Given the description of an element on the screen output the (x, y) to click on. 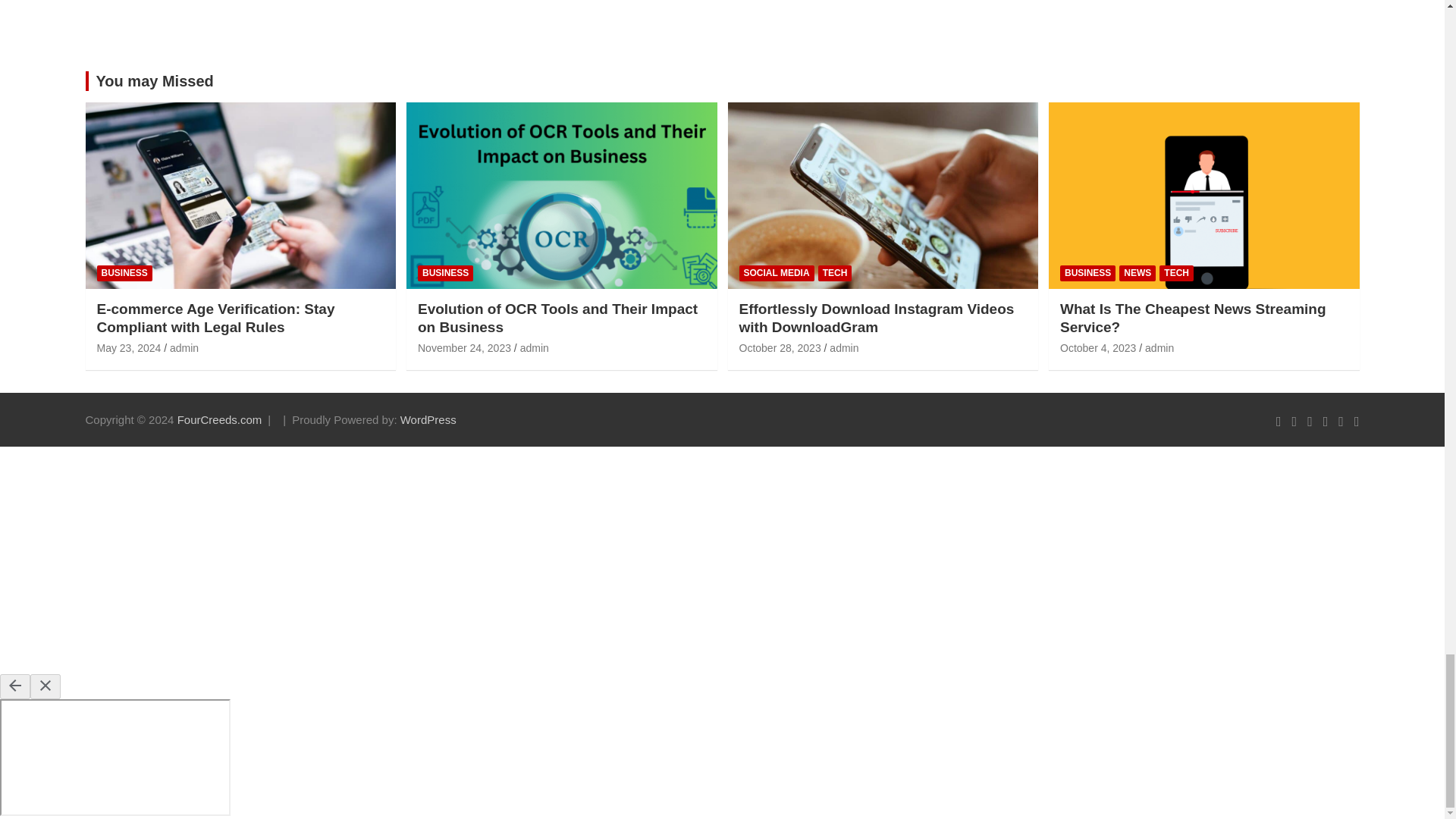
What Is The Cheapest News Streaming Service? (1097, 347)
Effortlessly Download Instagram Videos with DownloadGram (779, 347)
FourCreeds.com (219, 419)
E-commerce Age Verification: Stay Compliant with Legal Rules (129, 347)
Evolution of OCR Tools and Their Impact on Business (464, 347)
